Given the description of an element on the screen output the (x, y) to click on. 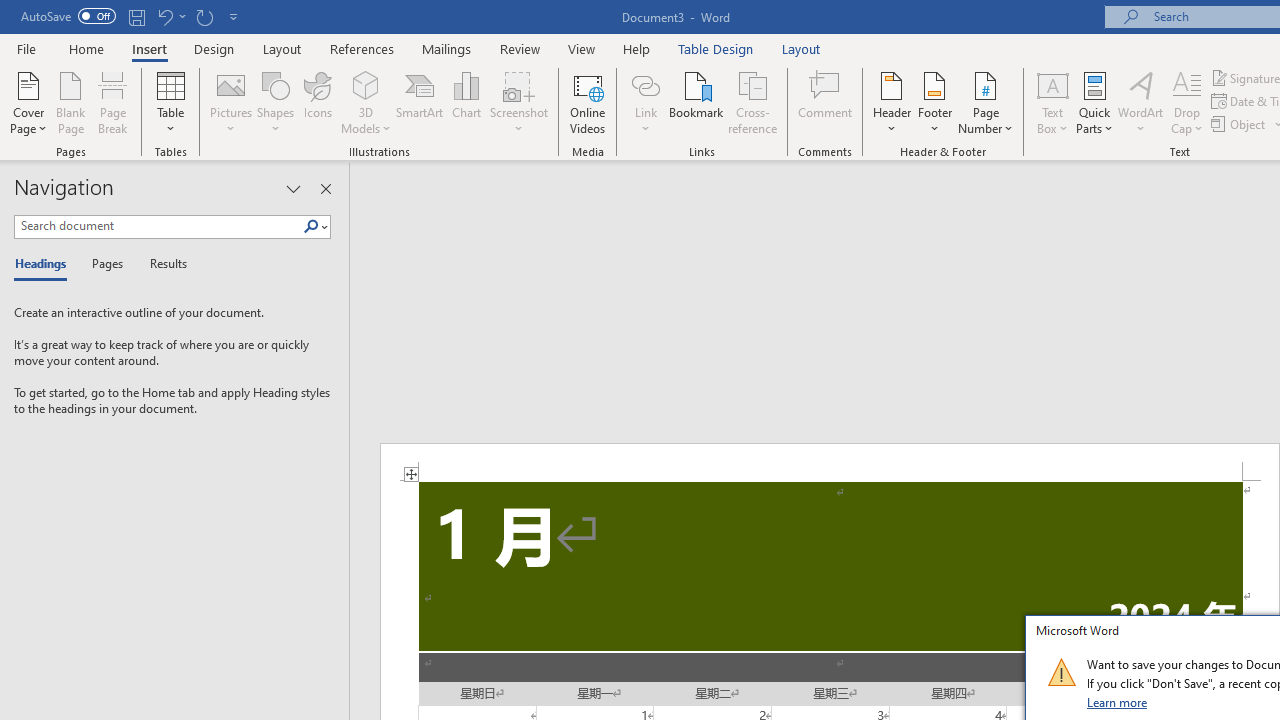
SmartArt... (419, 102)
Cross-reference... (752, 102)
Quick Parts (1094, 102)
Blank Page (70, 102)
Shapes (275, 102)
3D Models (366, 84)
Page Number (986, 102)
Table (170, 102)
Text Box (1052, 102)
